Given the description of an element on the screen output the (x, y) to click on. 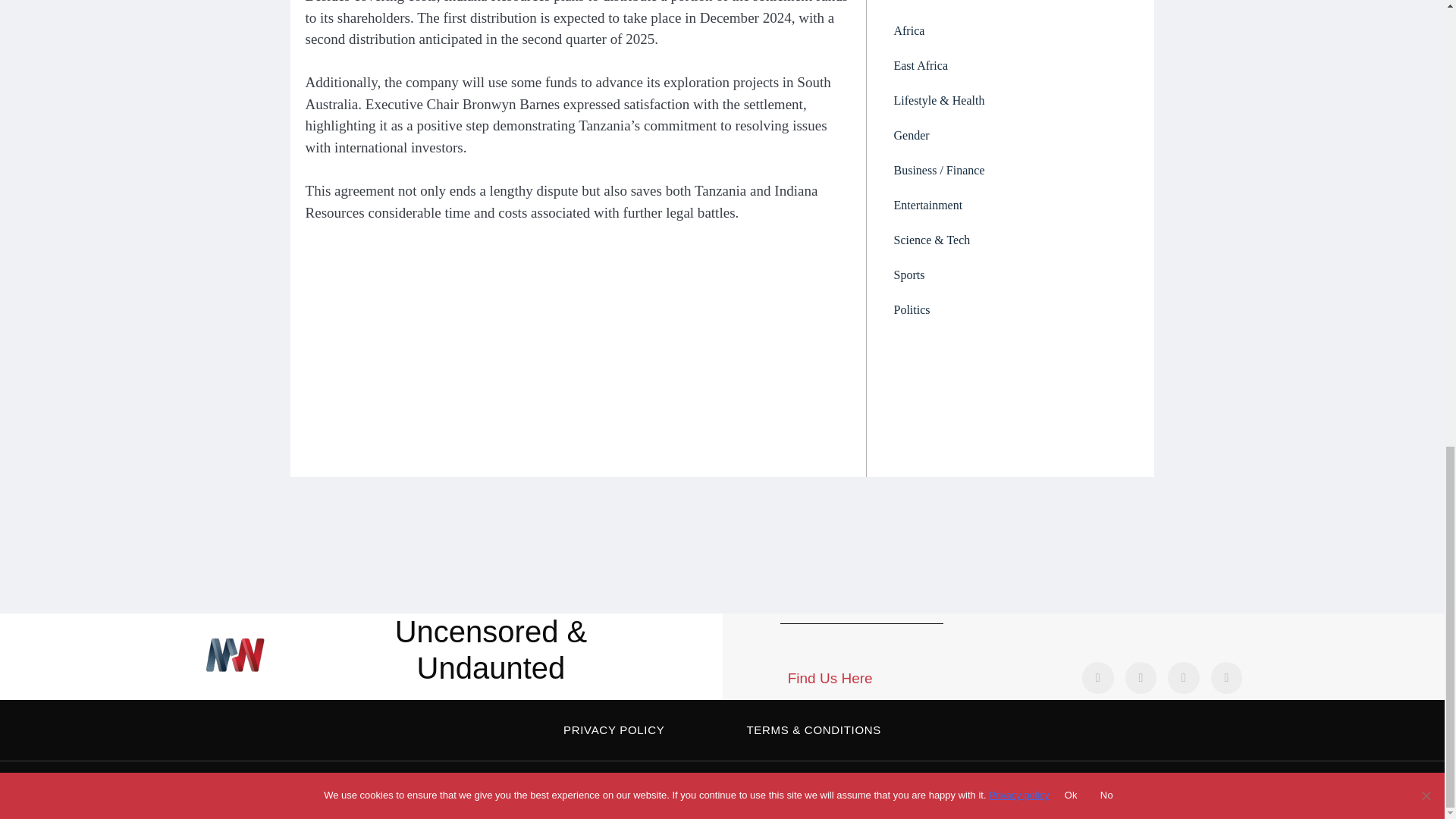
Entertainment (1010, 205)
Politics (1010, 309)
Africa (1010, 30)
Gender (1010, 135)
East Africa (1010, 65)
PRIVACY POLICY (613, 729)
Sports (1010, 274)
